Given the description of an element on the screen output the (x, y) to click on. 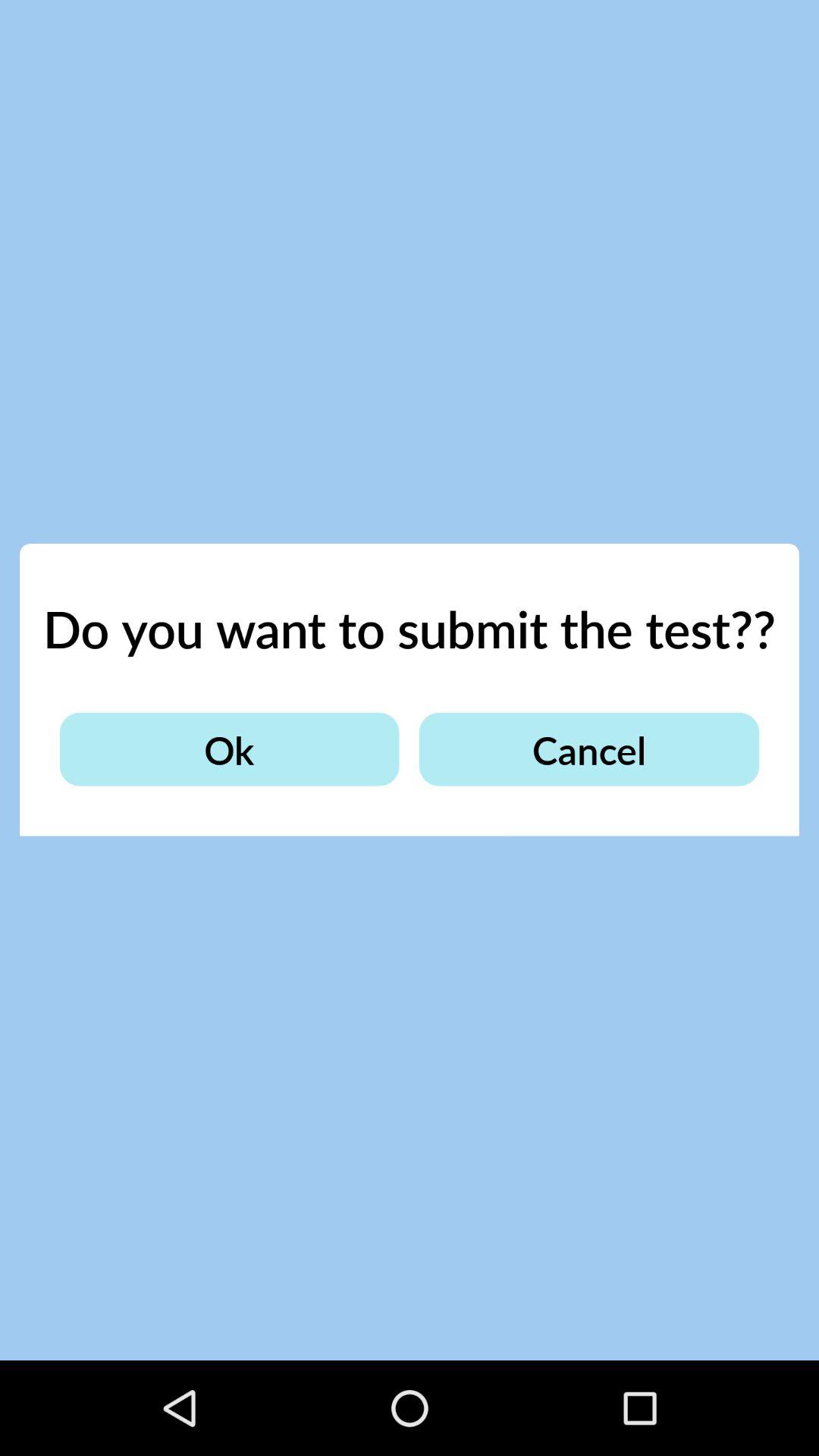
tap ok item (229, 749)
